Given the description of an element on the screen output the (x, y) to click on. 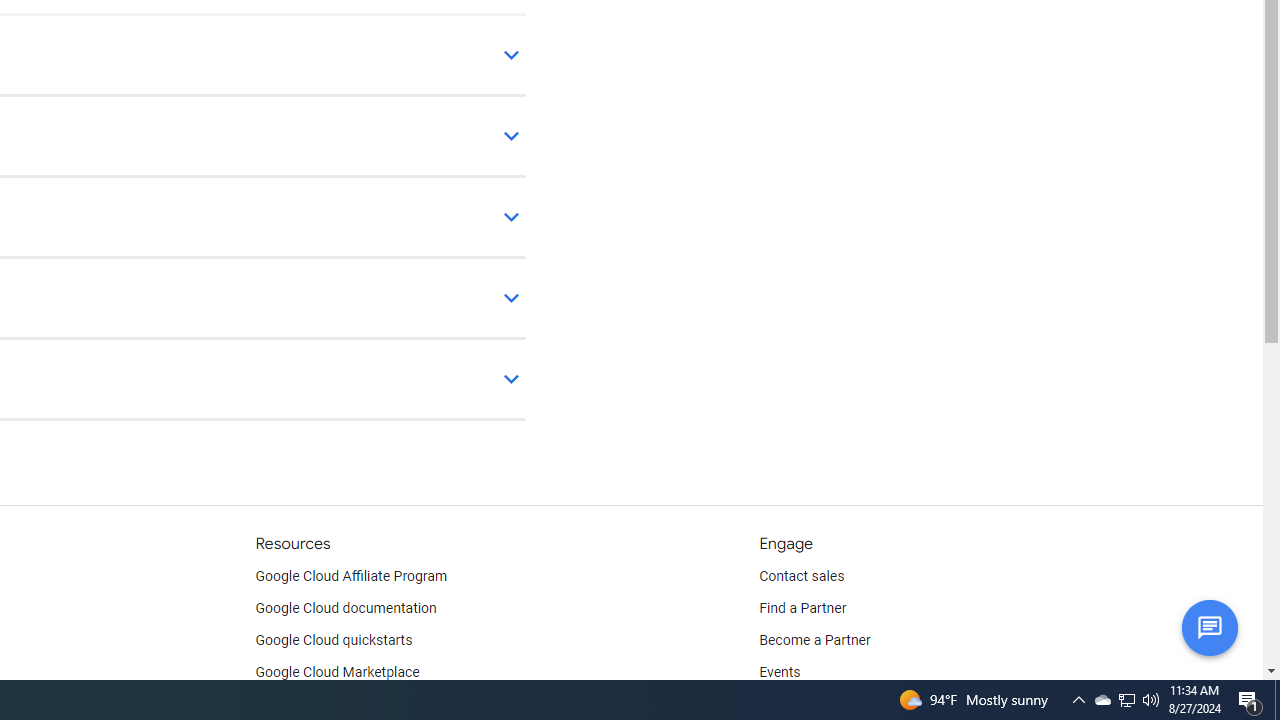
Become a Partner (814, 640)
Google Cloud quickstarts (333, 640)
Button to activate chat (1209, 627)
Google Cloud Marketplace (336, 672)
Google Cloud Affiliate Program (351, 576)
Events (780, 672)
Google Cloud documentation (345, 608)
Find a Partner (803, 608)
Contact sales (801, 576)
